Given the description of an element on the screen output the (x, y) to click on. 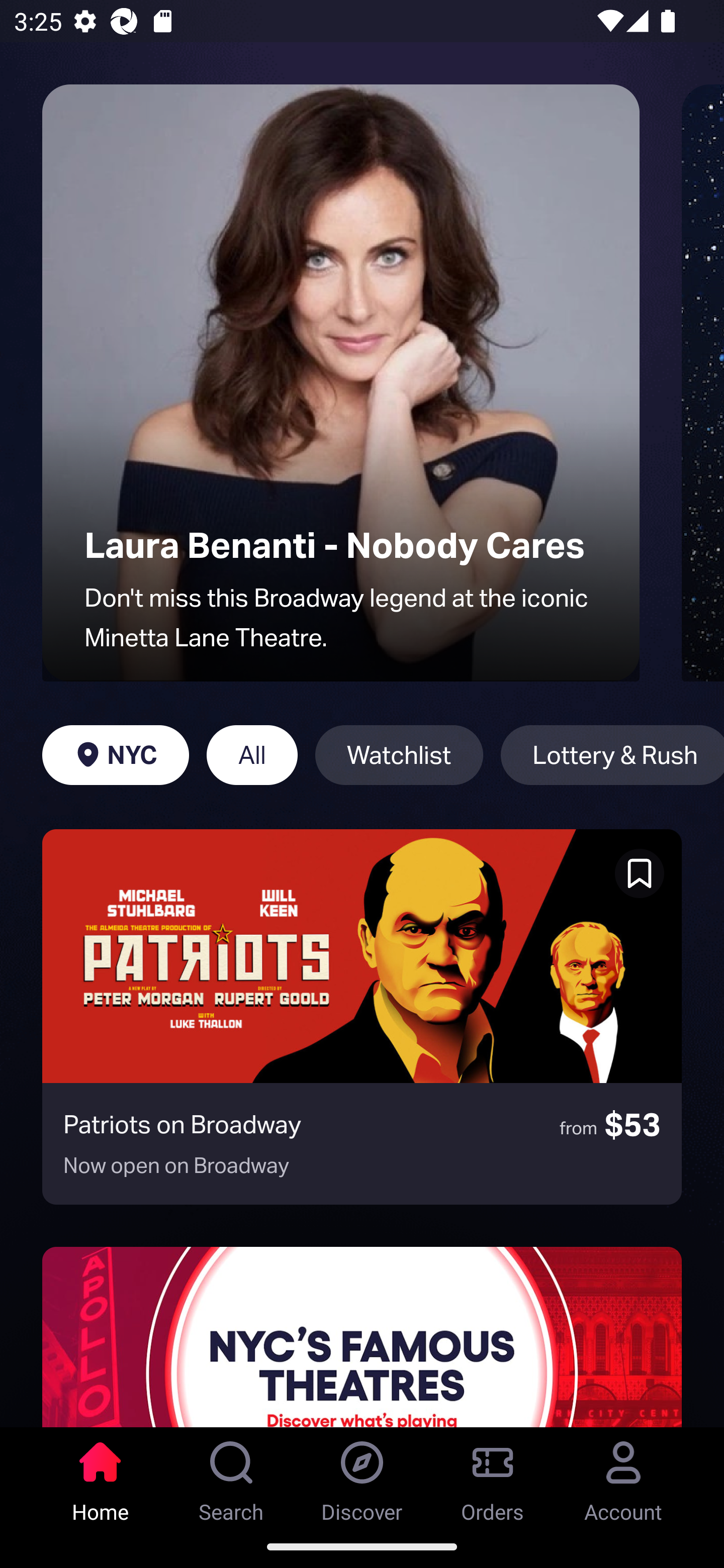
NYC (114, 754)
All (251, 754)
Watchlist (398, 754)
Lottery & Rush (612, 754)
Patriots on Broadway from $53 Now open on Broadway (361, 1016)
Search (230, 1475)
Discover (361, 1475)
Orders (492, 1475)
Account (623, 1475)
